Given the description of an element on the screen output the (x, y) to click on. 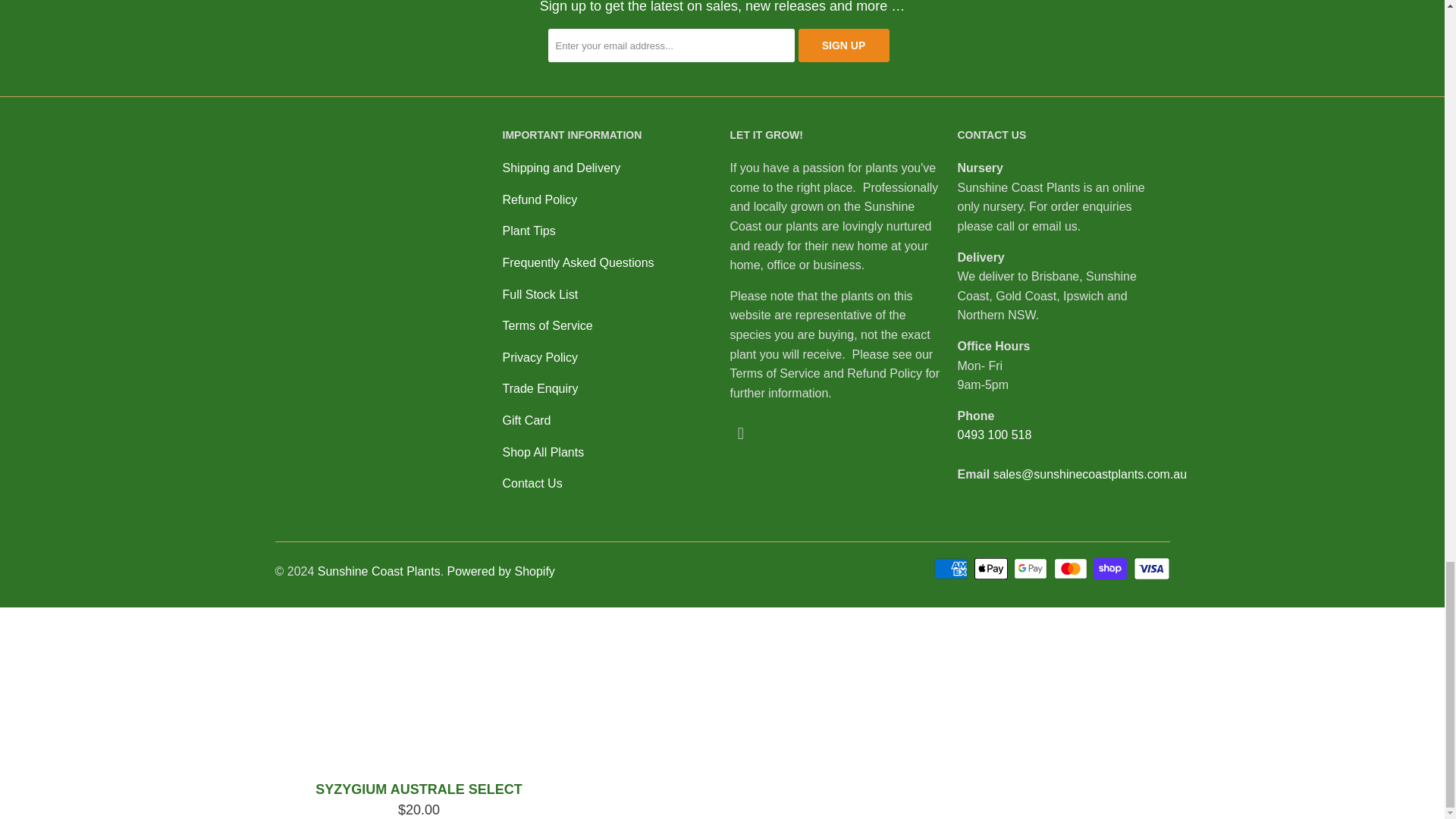
Google Pay (1031, 568)
Mastercard (1072, 568)
Shop Pay (1111, 568)
American Express (952, 568)
Sunshine Coast Plants on Facebook (740, 433)
tel:0493 100 518 (993, 434)
Sign Up (842, 45)
Visa (1150, 568)
Apple Pay (992, 568)
